Given the description of an element on the screen output the (x, y) to click on. 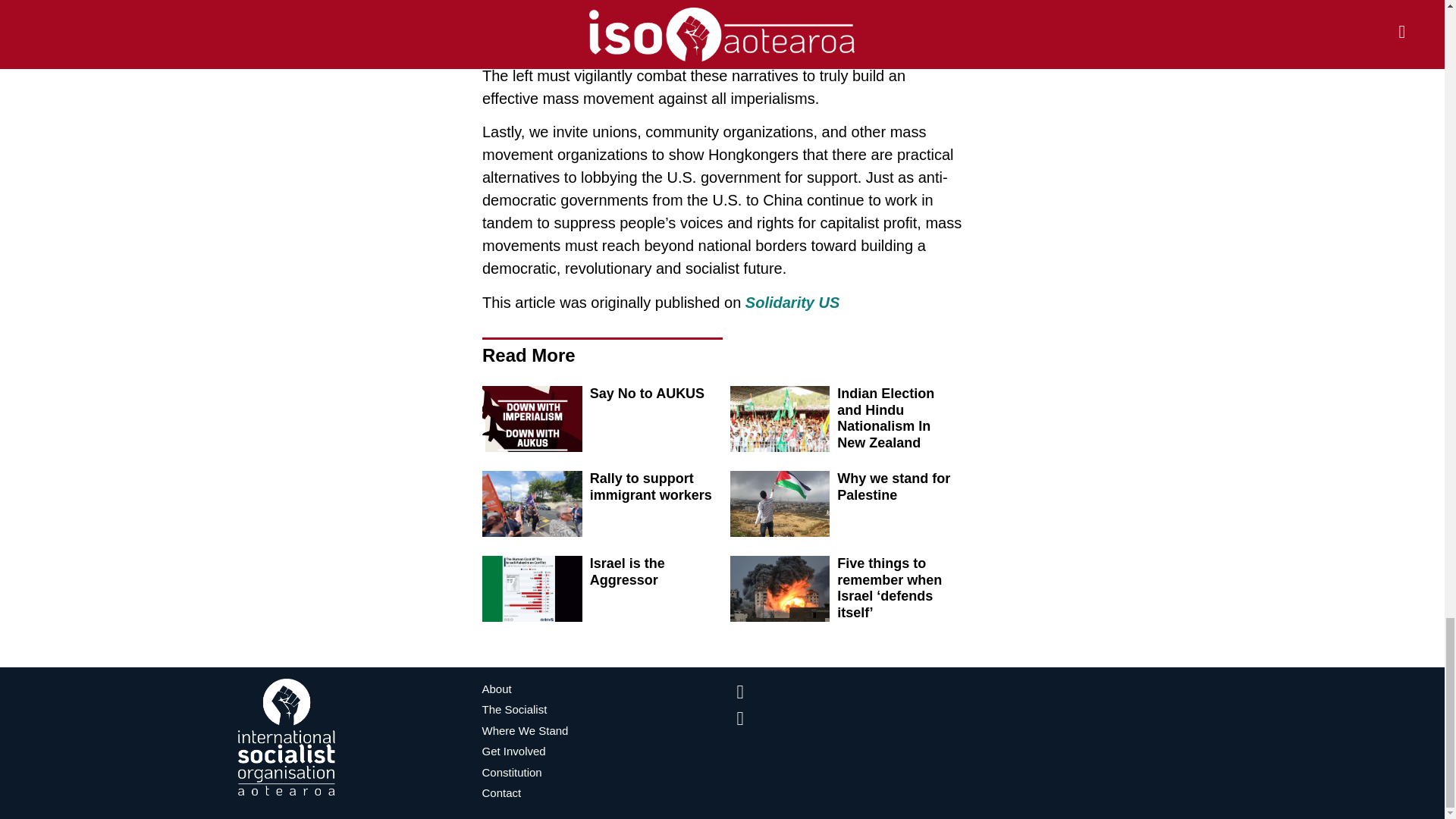
Solidarity US (792, 302)
The Socialist (603, 709)
Indian Election and Hindu Nationalism In New Zealand (885, 417)
Rally to support immigrant workers (650, 486)
Get Involved (603, 751)
Say No to AUKUS (646, 393)
Constitution (603, 772)
About (603, 689)
Why we stand for Palestine (893, 486)
Where We Stand (603, 731)
Contact (603, 792)
methods (910, 53)
Israel is the Aggressor (627, 572)
